Given the description of an element on the screen output the (x, y) to click on. 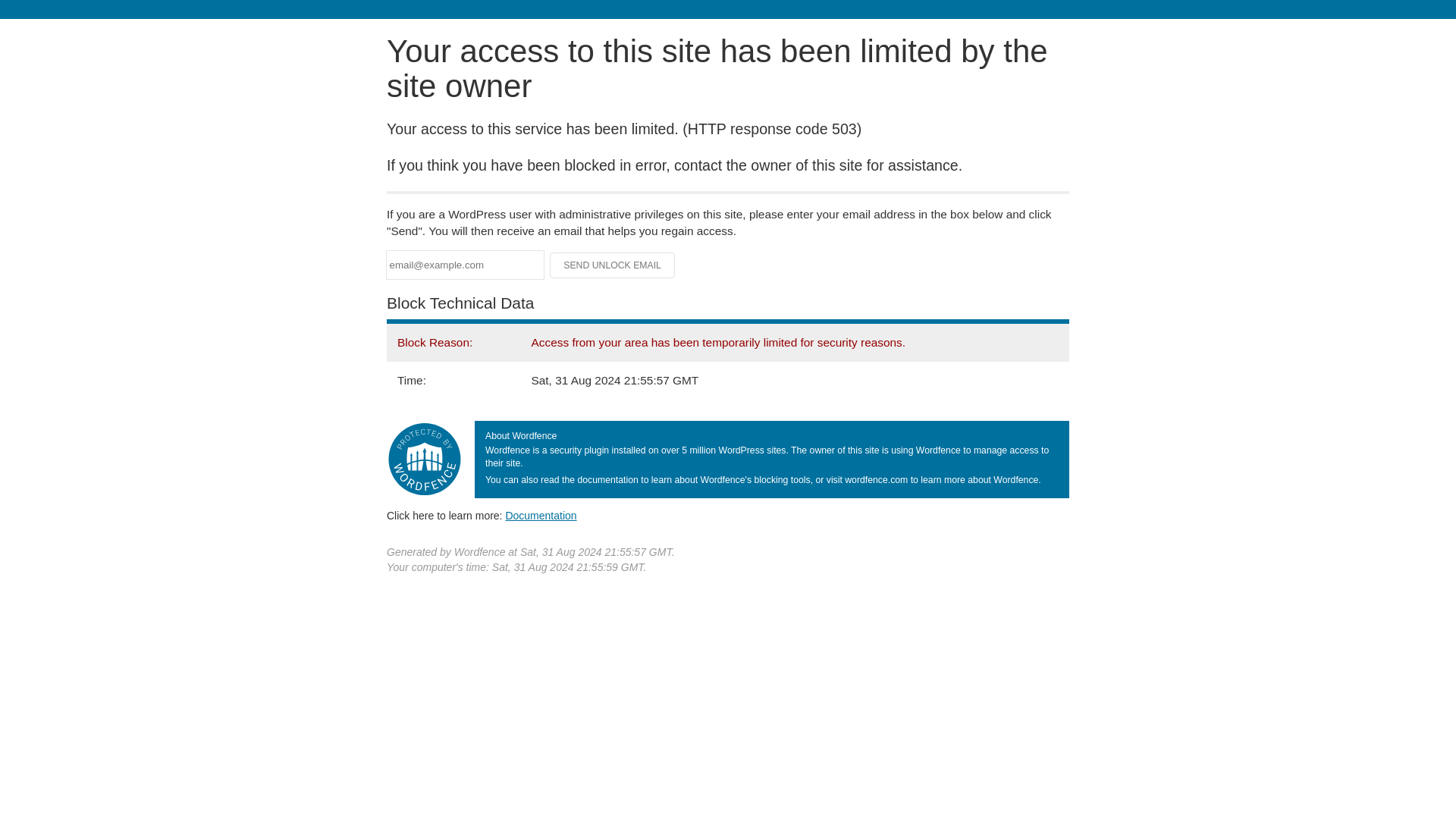
Documentation (540, 515)
Send Unlock Email (612, 265)
Send Unlock Email (612, 265)
